Given the description of an element on the screen output the (x, y) to click on. 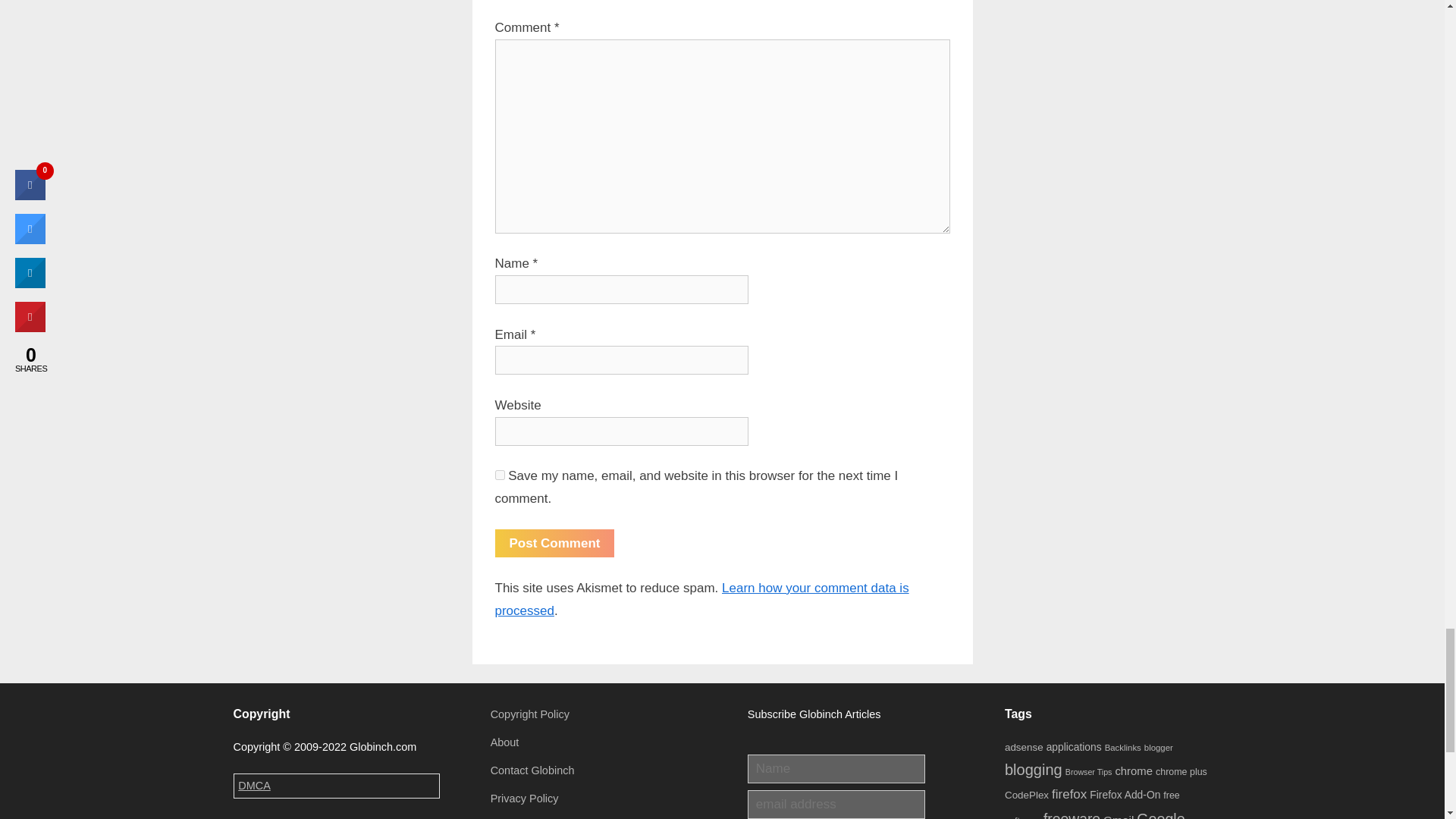
yes (499, 474)
Post Comment (554, 543)
